Given the description of an element on the screen output the (x, y) to click on. 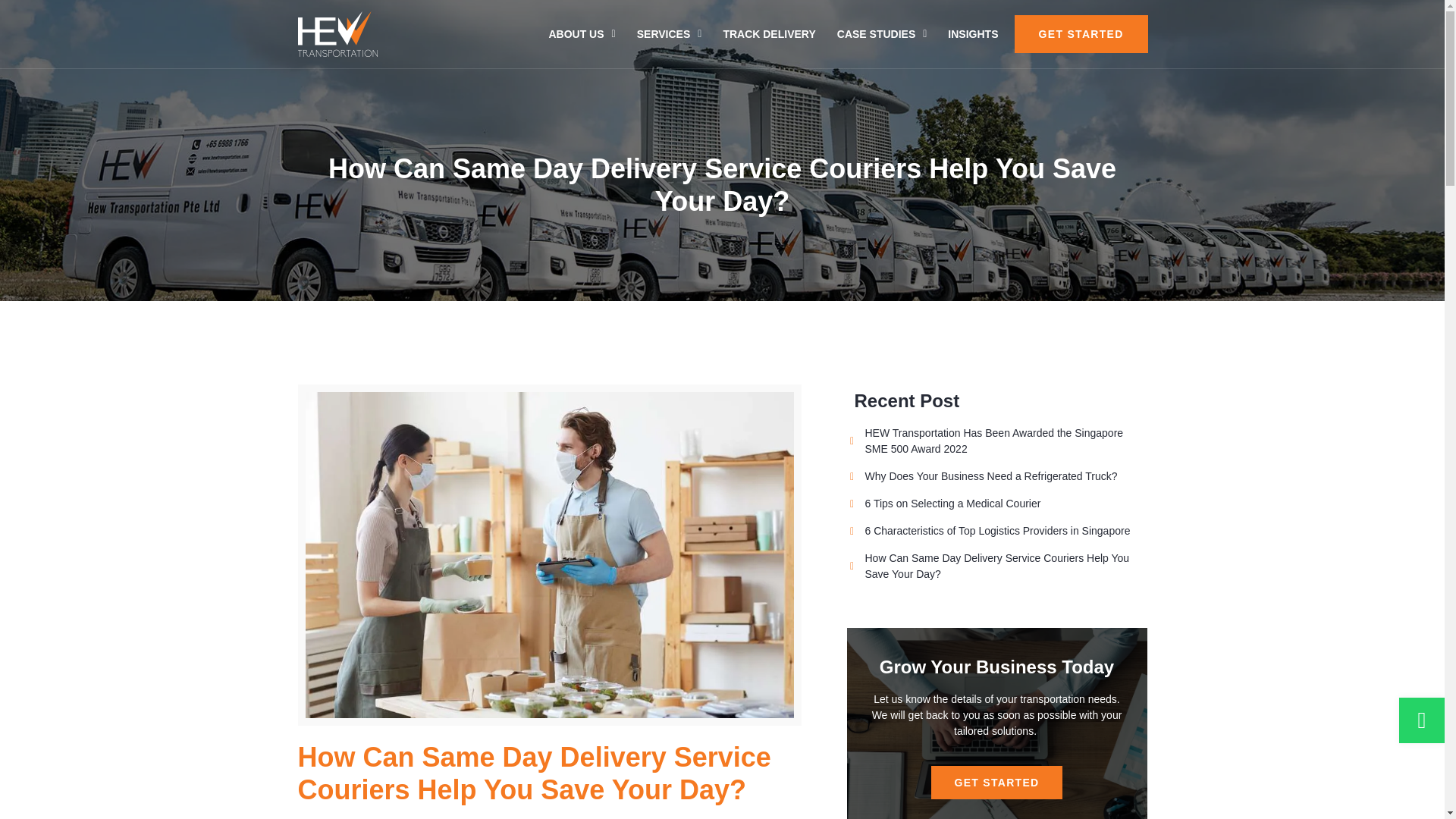
SERVICES (669, 34)
GET STARTED (1081, 34)
INSIGHTS (973, 34)
HewTransportation-Logo.png (337, 33)
TRACK DELIVERY (768, 34)
CASE STUDIES (882, 34)
ABOUT US (581, 34)
